Given the description of an element on the screen output the (x, y) to click on. 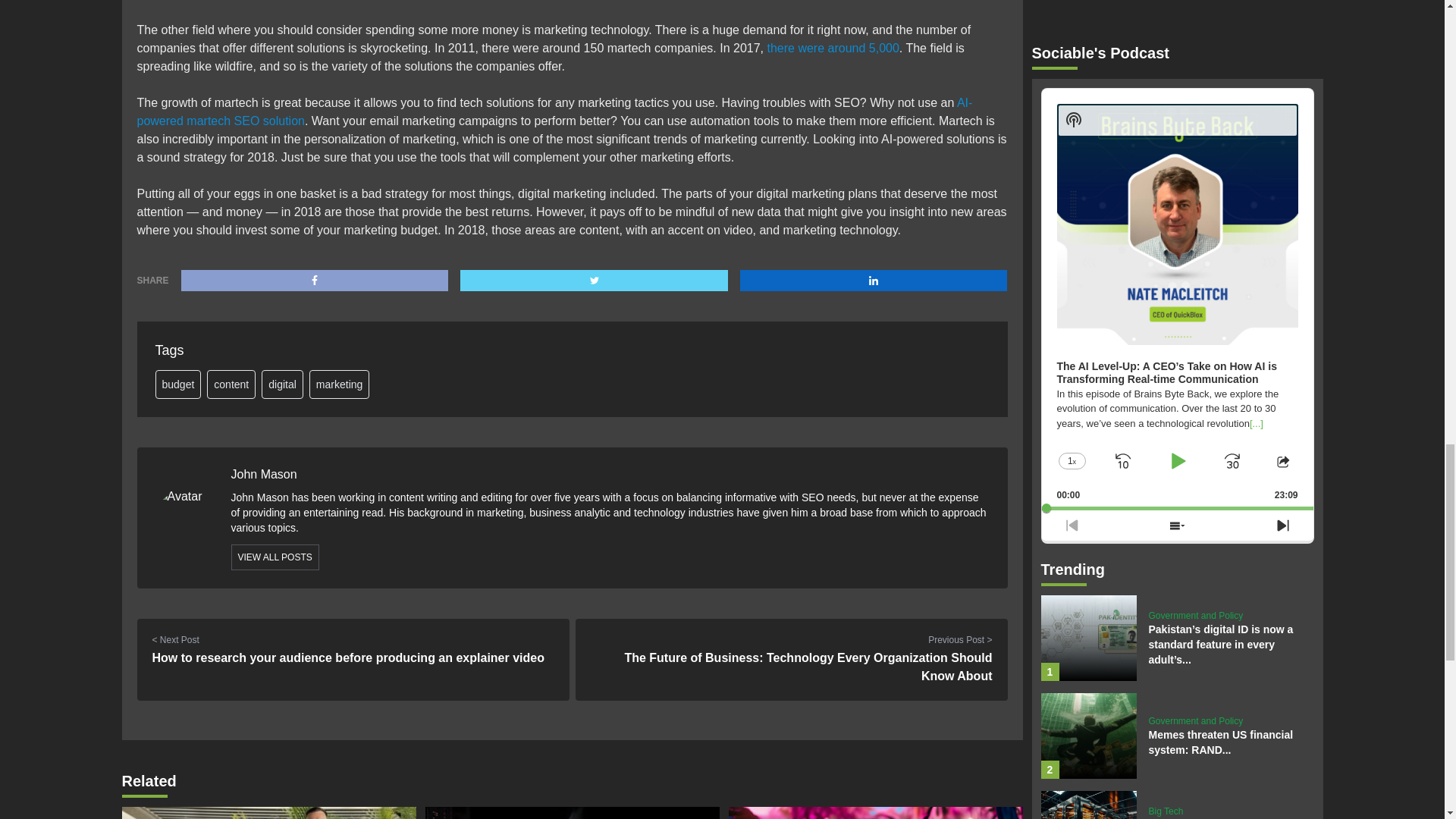
AI-powered martech SEO solution (554, 111)
content (231, 384)
digital (282, 384)
budget (177, 384)
there were around 5,000 (833, 47)
